Given the description of an element on the screen output the (x, y) to click on. 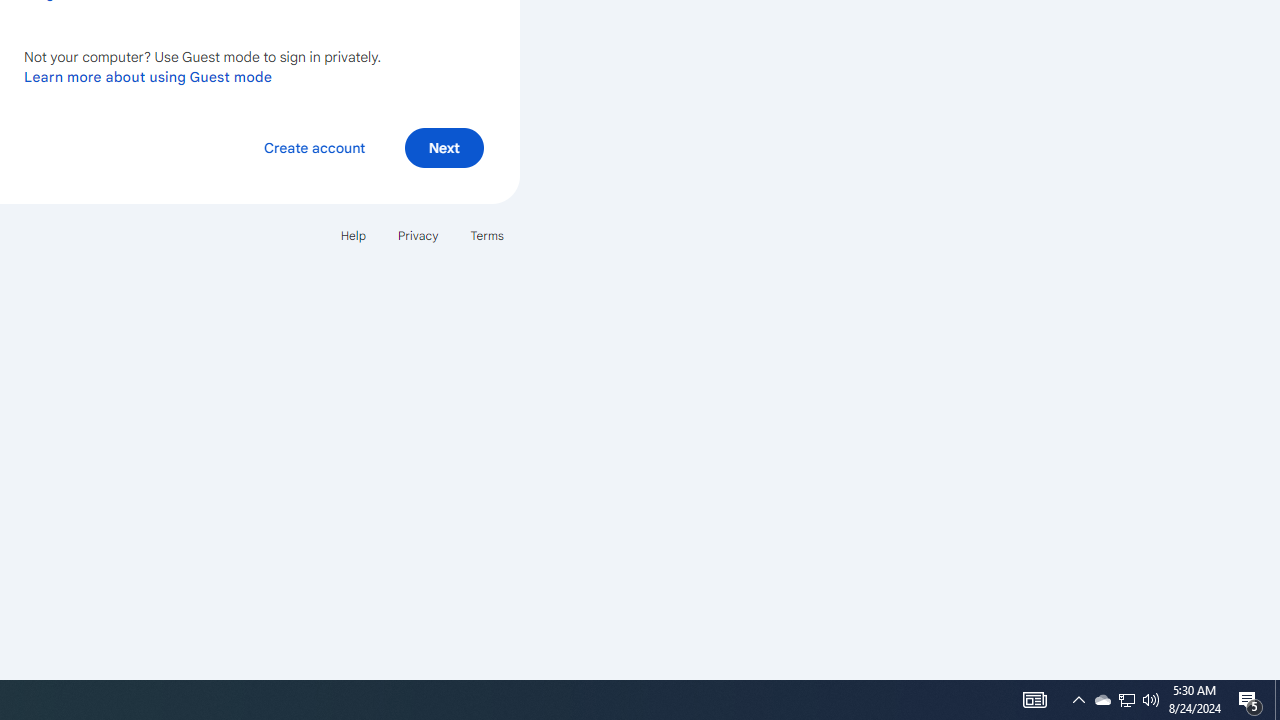
Privacy (417, 234)
Learn more about using Guest mode (148, 76)
Terms (486, 234)
Create account (314, 146)
Next (443, 146)
Help (352, 234)
